Given the description of an element on the screen output the (x, y) to click on. 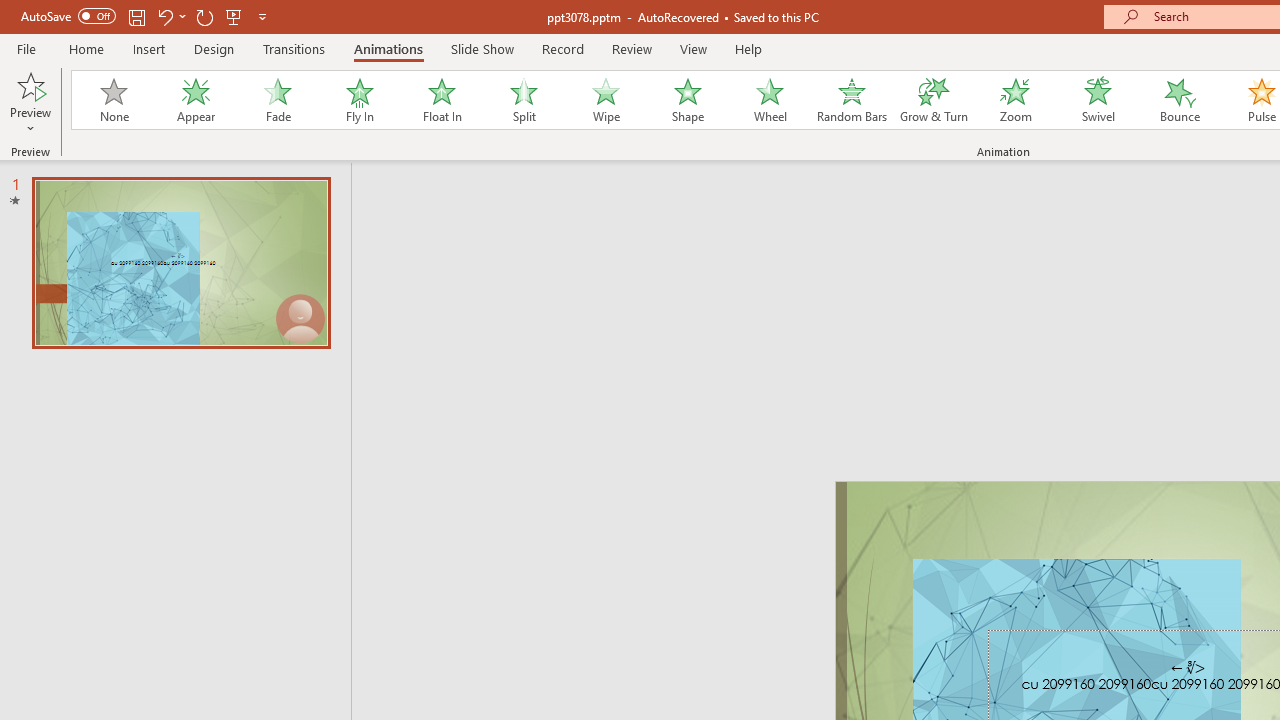
Wheel (770, 100)
Wipe (605, 100)
Swivel (1098, 100)
Appear (195, 100)
TextBox 7 (1188, 668)
